Given the description of an element on the screen output the (x, y) to click on. 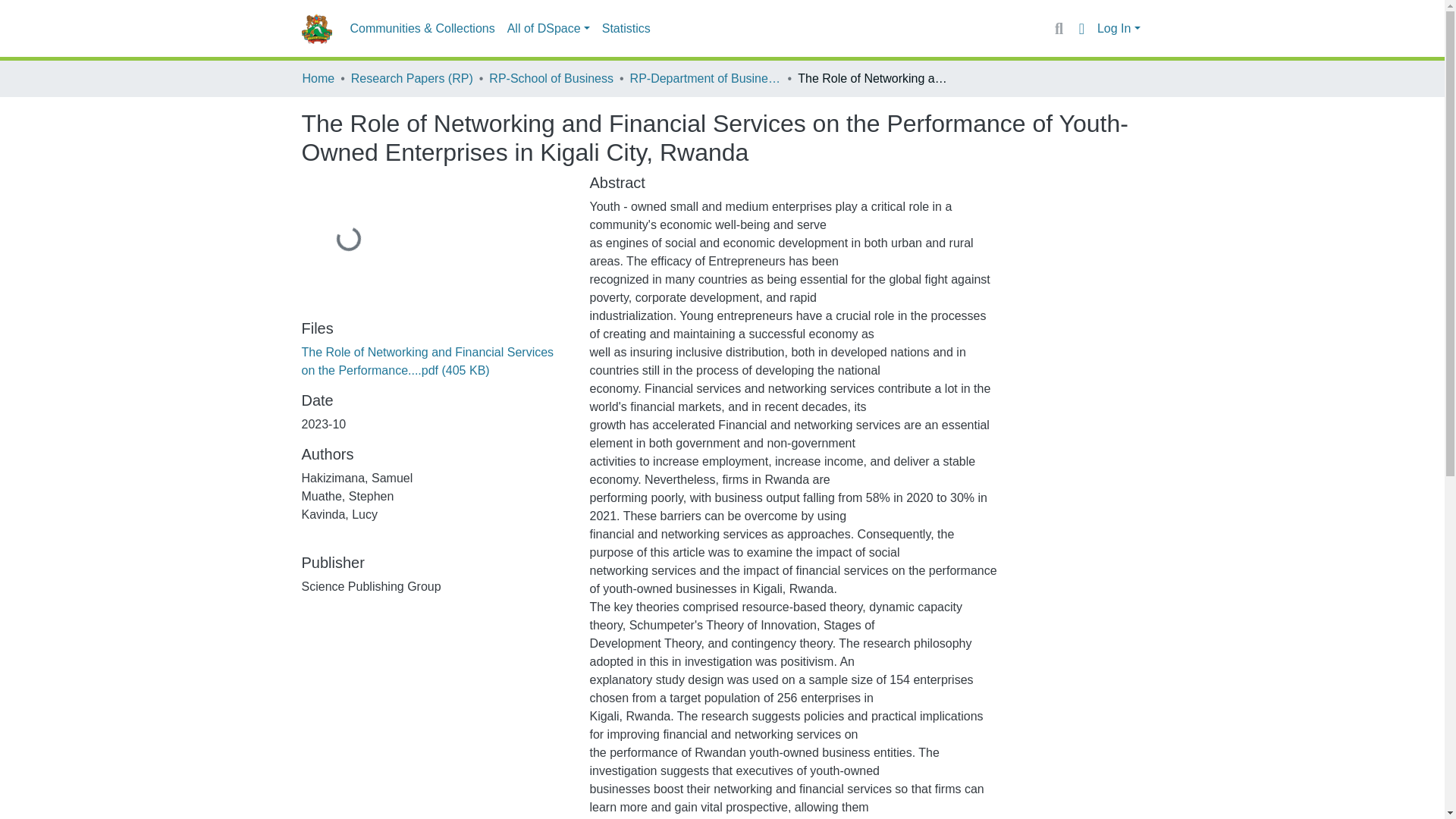
Log In (1118, 28)
Home (317, 78)
Statistics (625, 28)
All of DSpace (547, 28)
RP-Department of Business Administration (705, 78)
Language switch (1081, 28)
RP-School of Business (550, 78)
Search (1058, 28)
Statistics (625, 28)
